Given the description of an element on the screen output the (x, y) to click on. 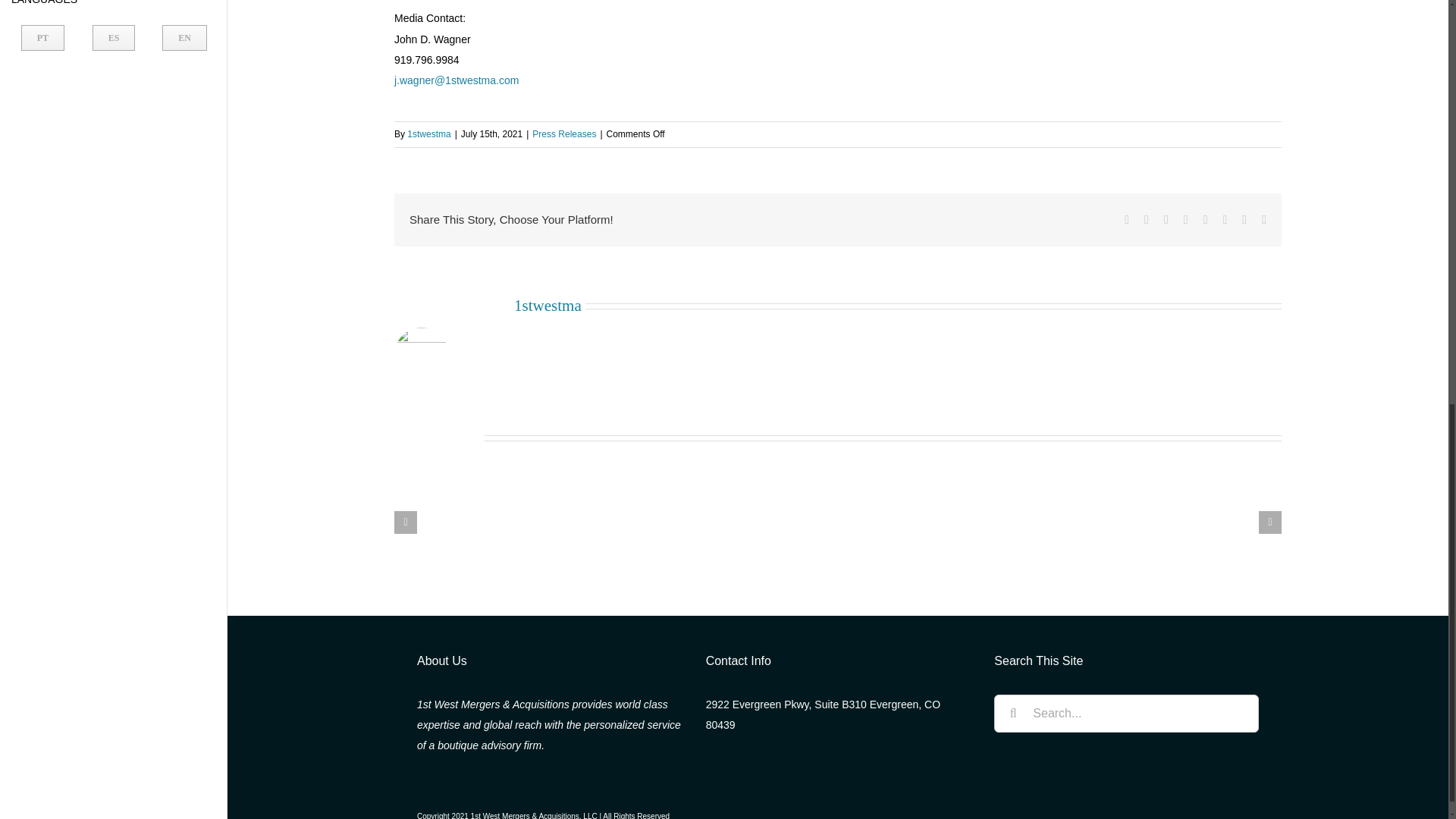
Press Releases (563, 133)
1stwestma (428, 133)
ES (114, 37)
EN (183, 37)
Posts by 1stwestma (428, 133)
PT (42, 37)
Posts by 1stwestma (113, 33)
